Given the description of an element on the screen output the (x, y) to click on. 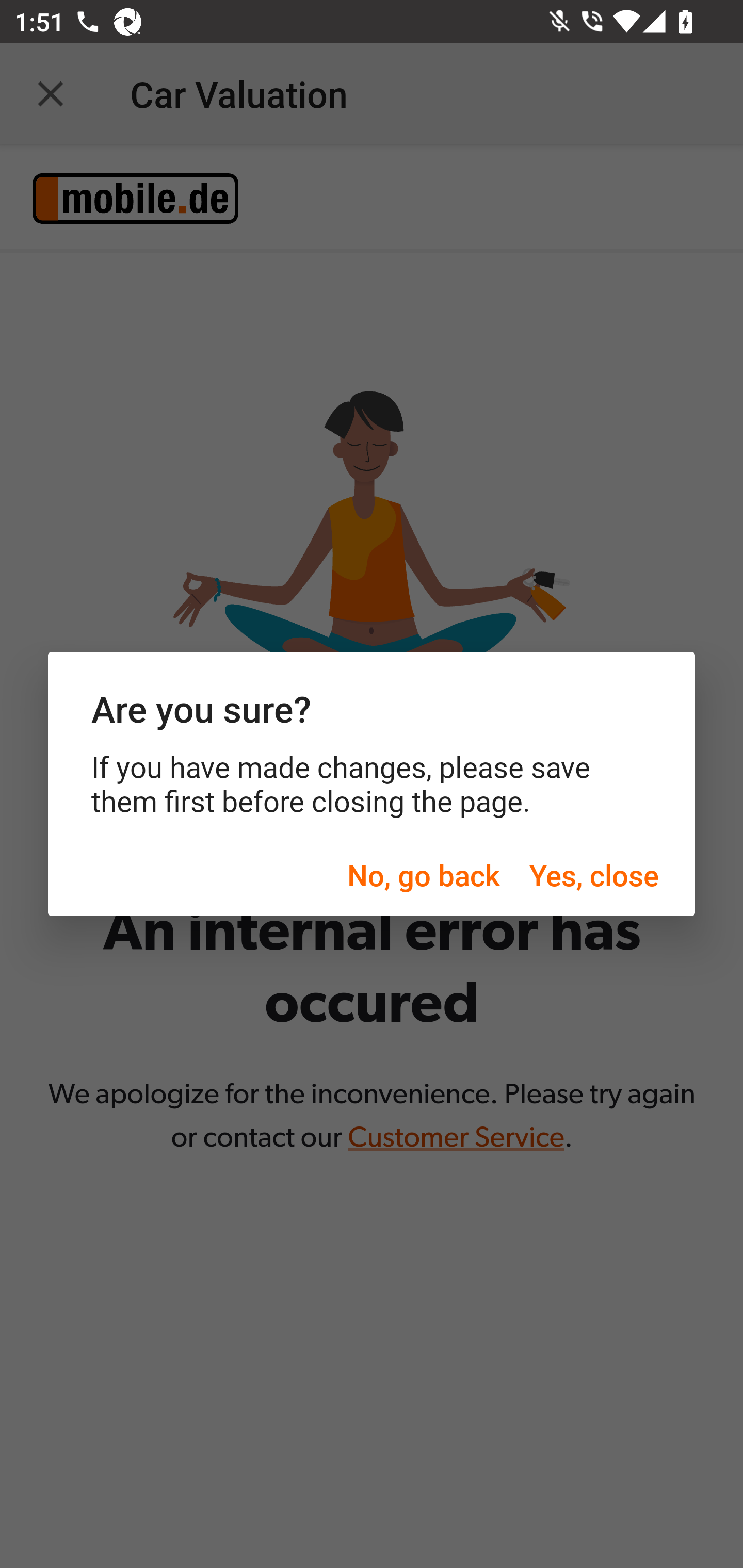
No, go back (423, 874)
Yes, close (593, 874)
